Given the description of an element on the screen output the (x, y) to click on. 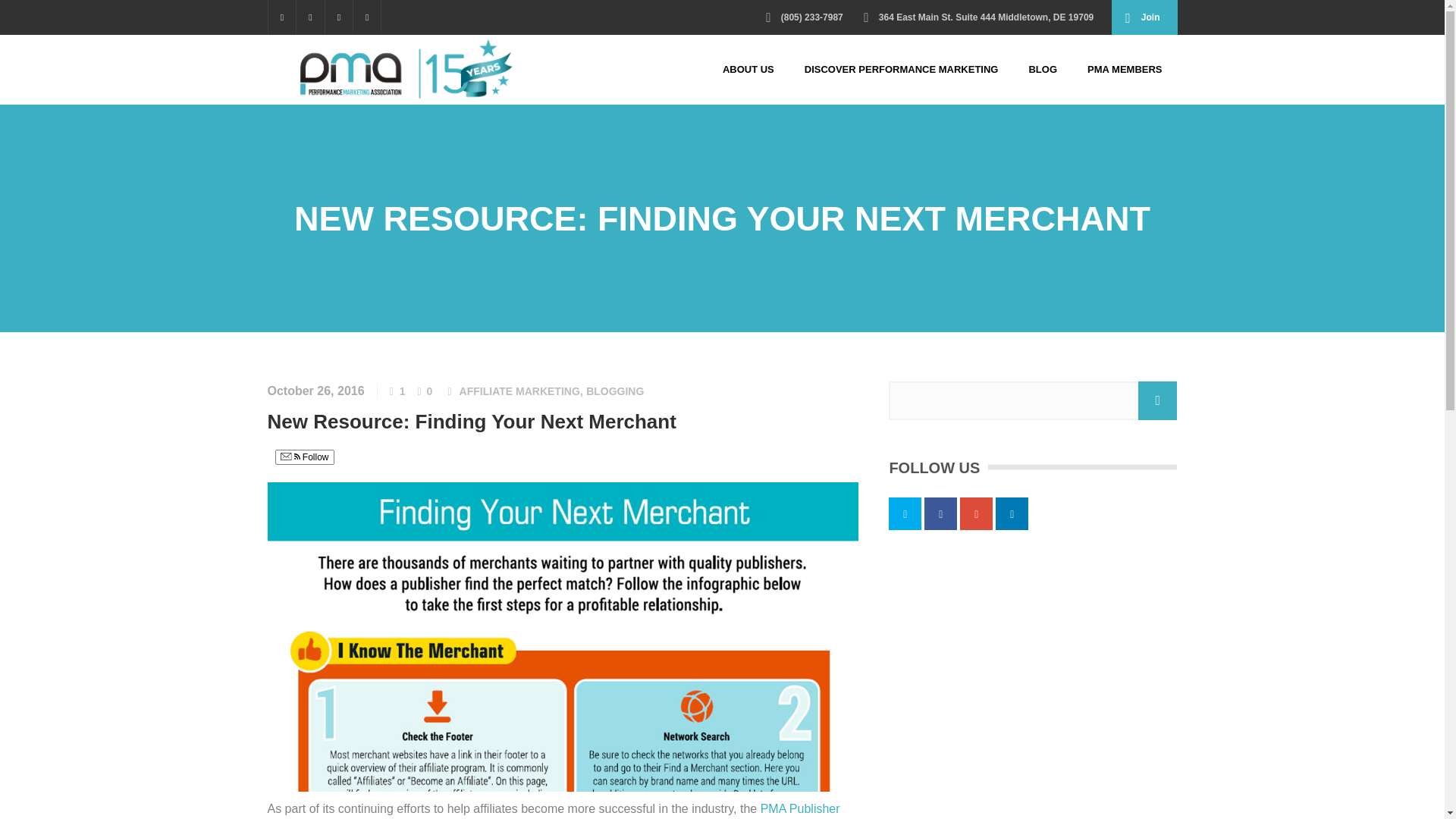
Email, RSS (290, 457)
Like this (398, 390)
DISCOVER PERFORMANCE MARKETING (901, 69)
Join (1144, 17)
ABOUT US (748, 69)
PMA MEMBERS (1123, 69)
